Given the description of an element on the screen output the (x, y) to click on. 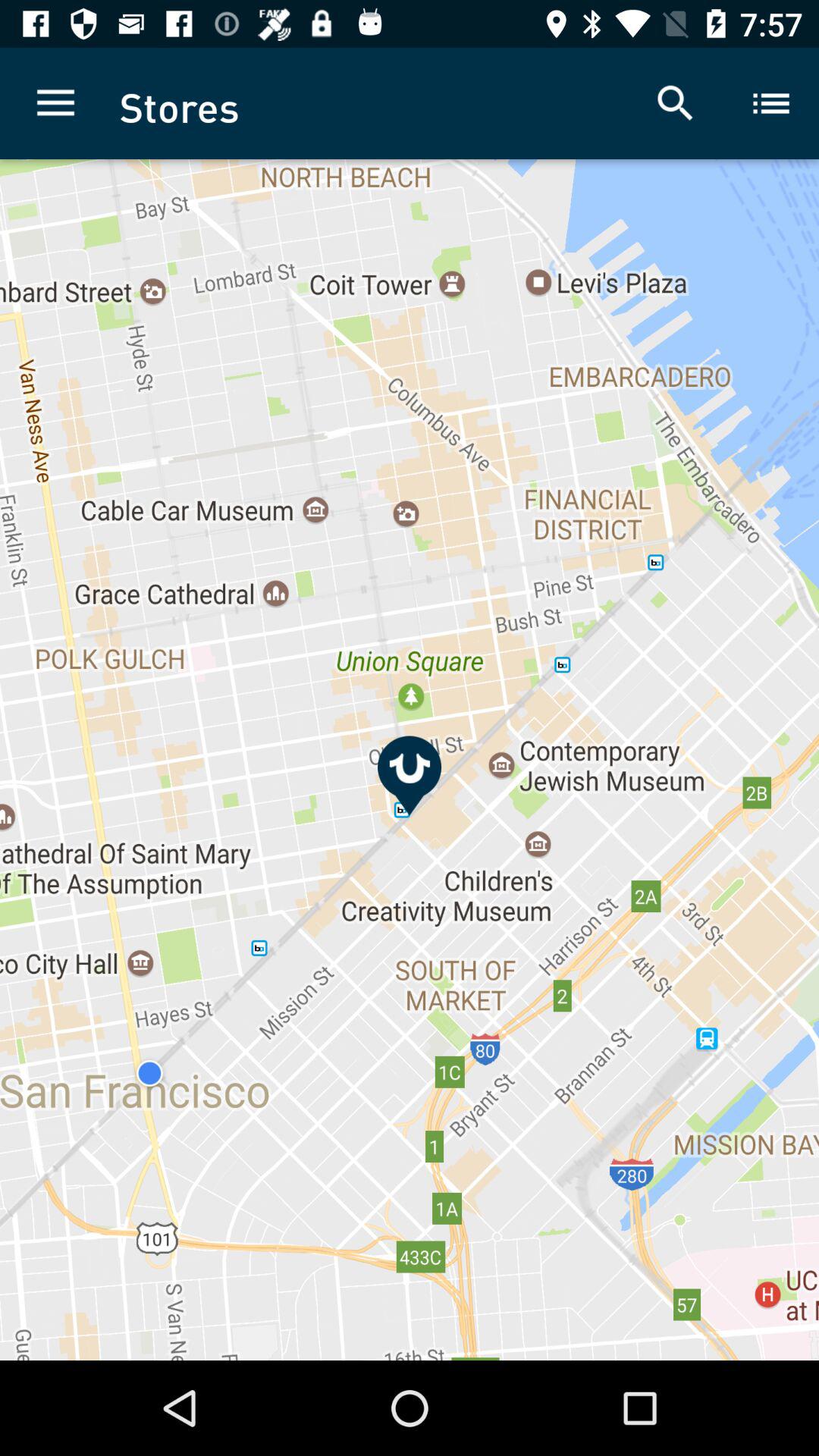
tap item next to stores item (675, 103)
